Given the description of an element on the screen output the (x, y) to click on. 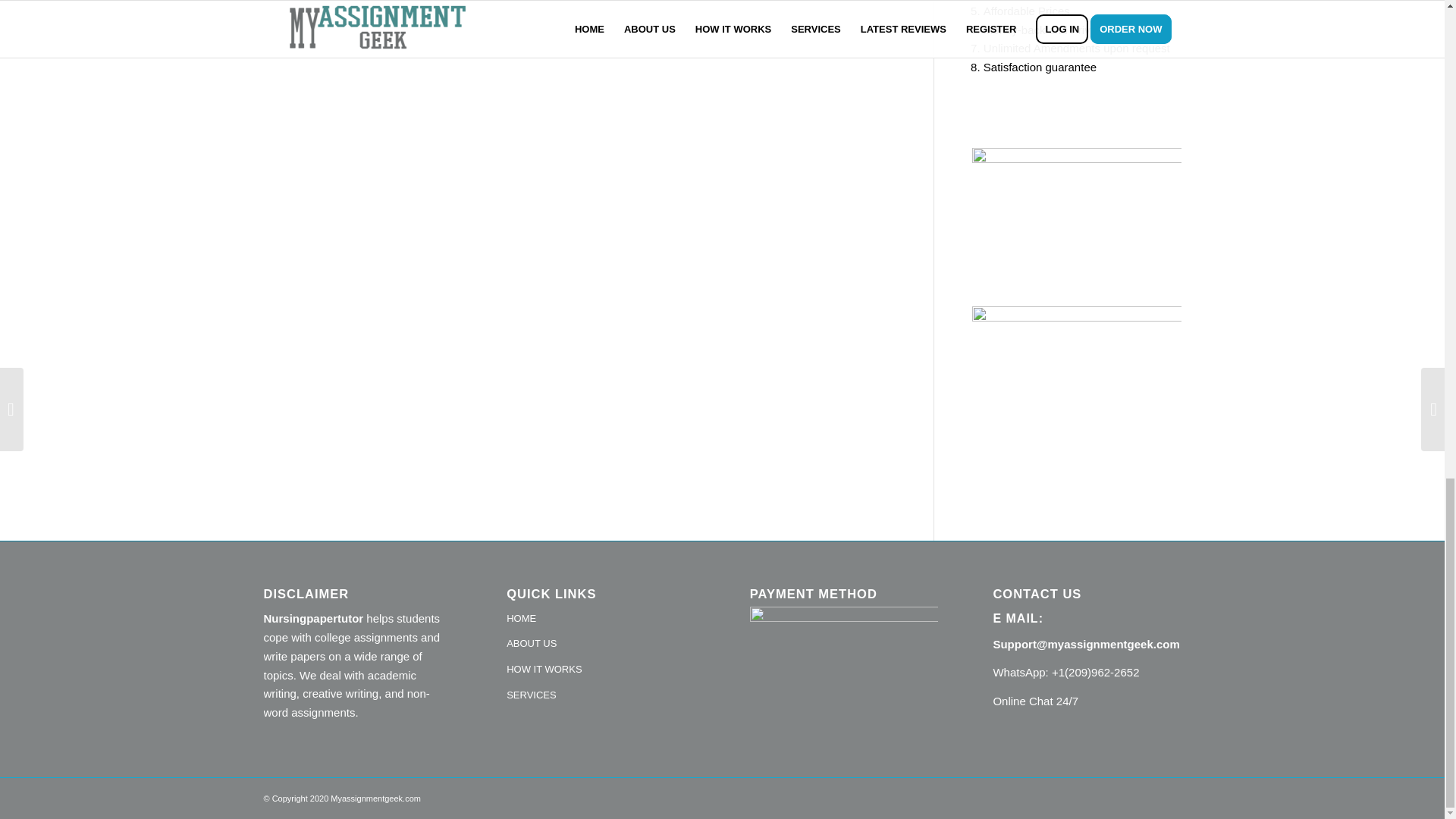
SERVICES (600, 696)
HOW IT WORKS (600, 670)
ABOUT US (600, 644)
HOME (600, 619)
